Given the description of an element on the screen output the (x, y) to click on. 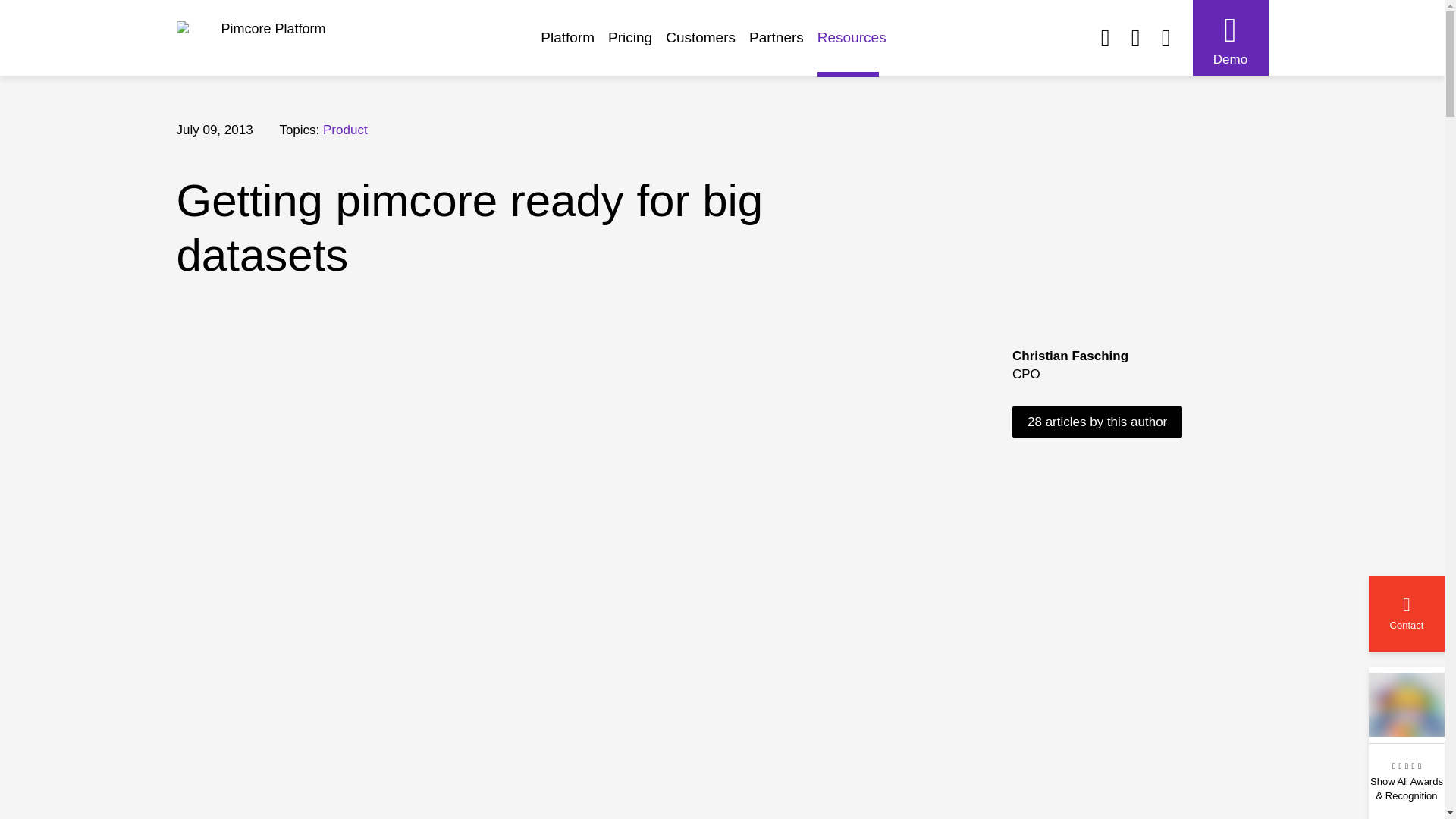
Partners (782, 44)
Platform (574, 44)
Pricing (636, 44)
Customers (707, 44)
